Given the description of an element on the screen output the (x, y) to click on. 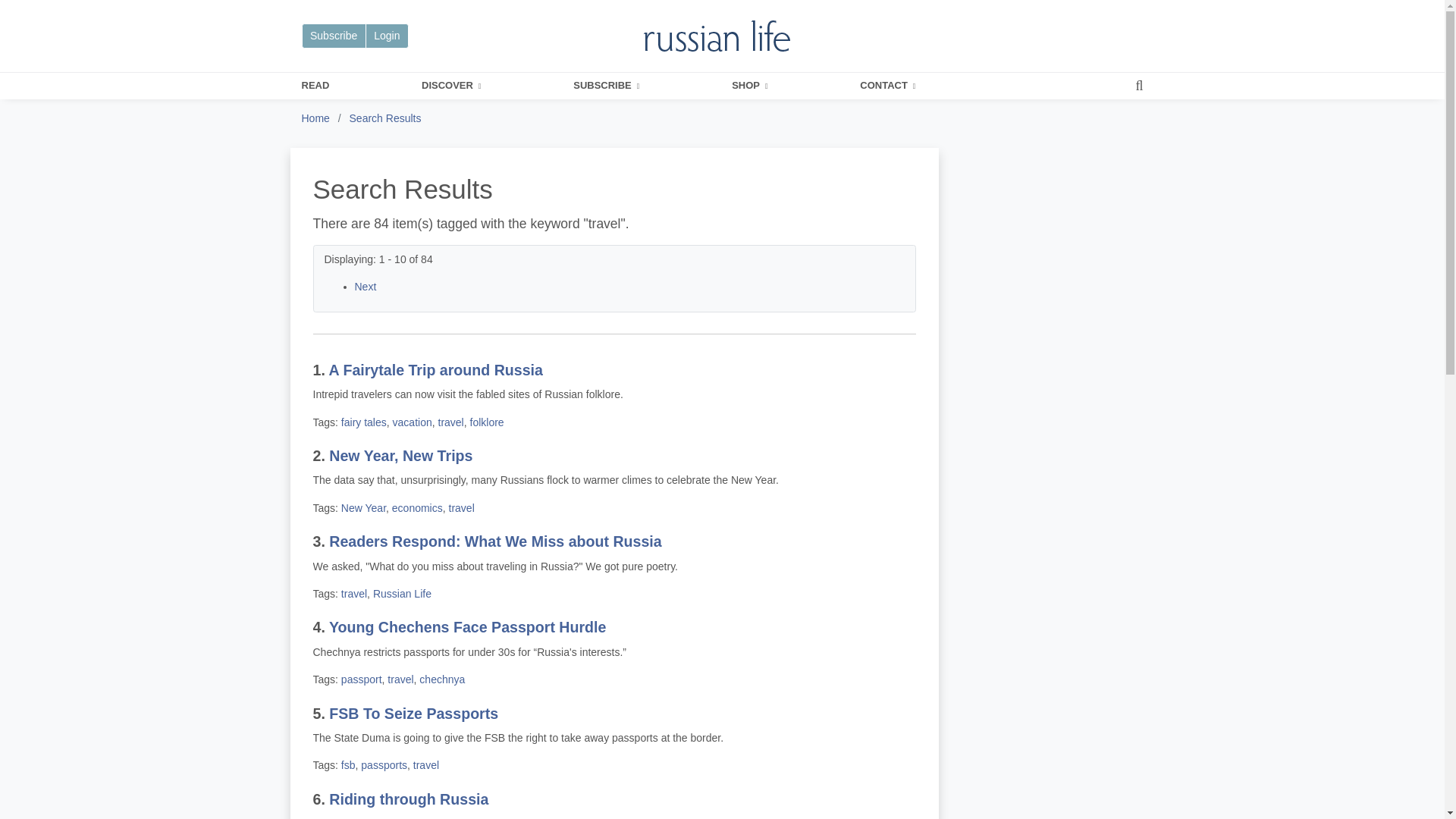
Subscribe (333, 36)
DISCOVER (451, 85)
SHOP (749, 85)
Login (387, 36)
A Fairytale Trip around Russia (436, 369)
Next (366, 286)
Home (315, 118)
Search Results (385, 118)
SUBSCRIBE (606, 85)
READ (315, 85)
